Given the description of an element on the screen output the (x, y) to click on. 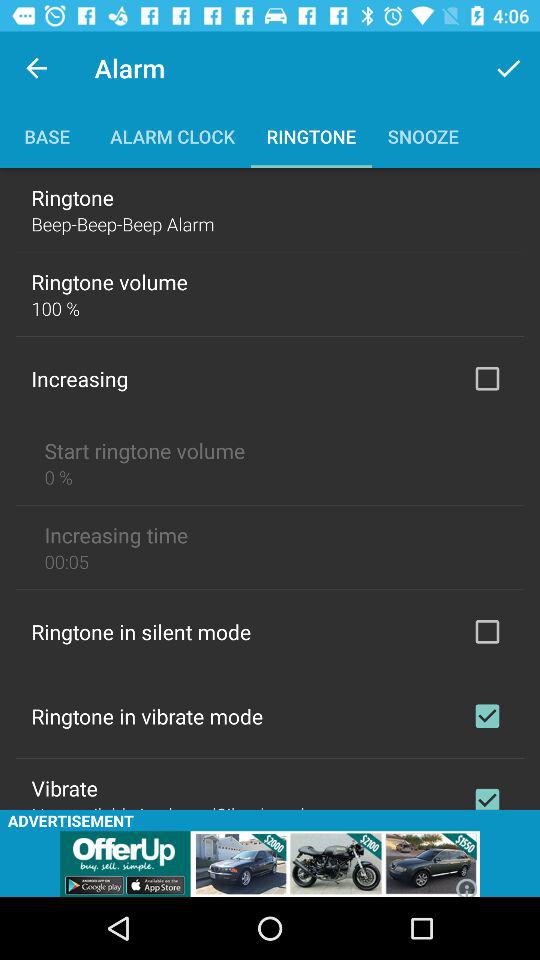
select option (487, 716)
